Given the description of an element on the screen output the (x, y) to click on. 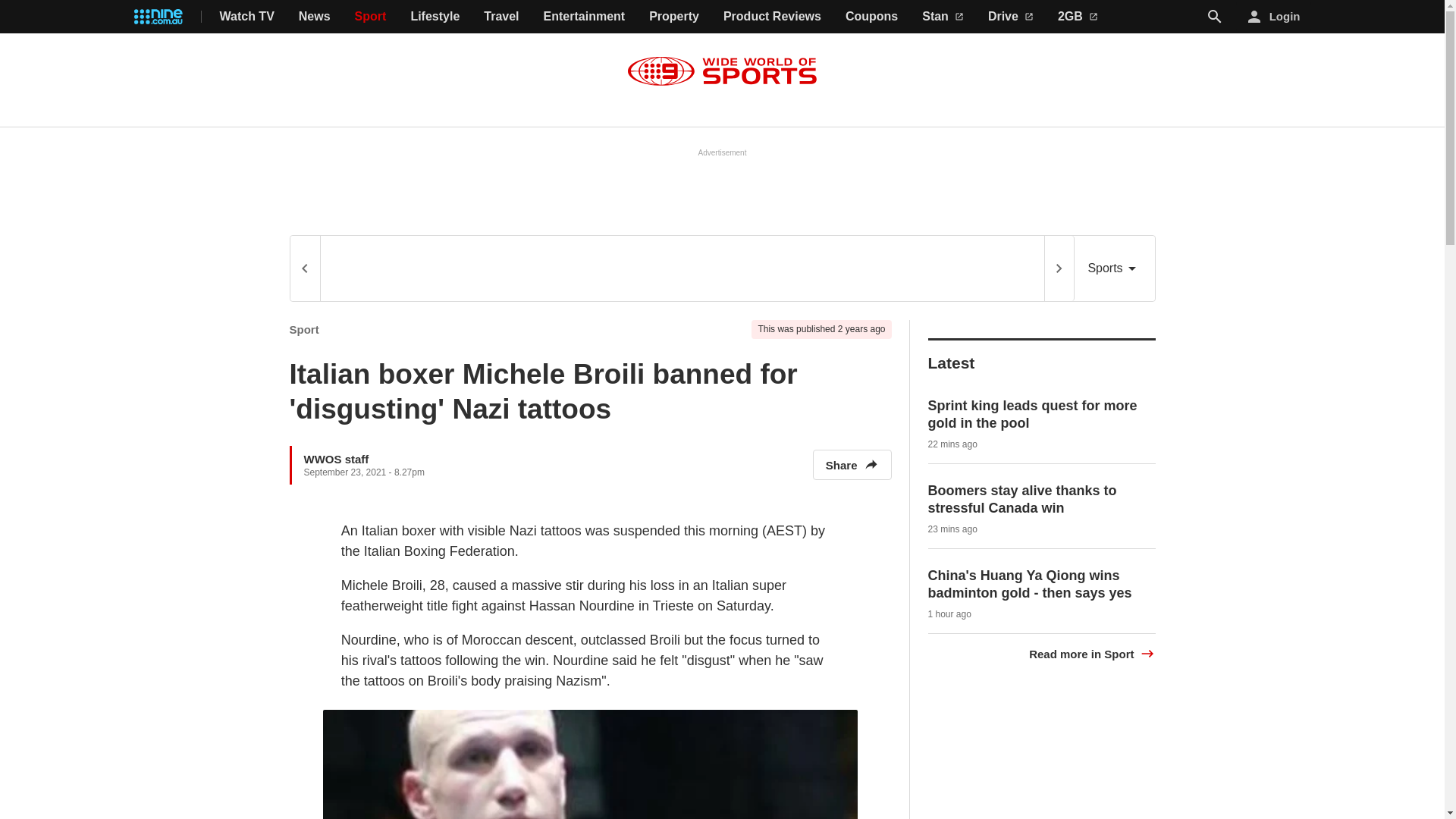
Kiwi burned in savage triathlon twist 200m from gold medal (1029, 414)
Search (1214, 16)
Search (1214, 16)
Sports (1114, 268)
Share (851, 464)
Lifestyle (435, 16)
Sport (303, 328)
Coupons (871, 16)
Moment fencer defies all odds with whole crowd against her (1041, 584)
WWOS staff (335, 458)
